Given the description of an element on the screen output the (x, y) to click on. 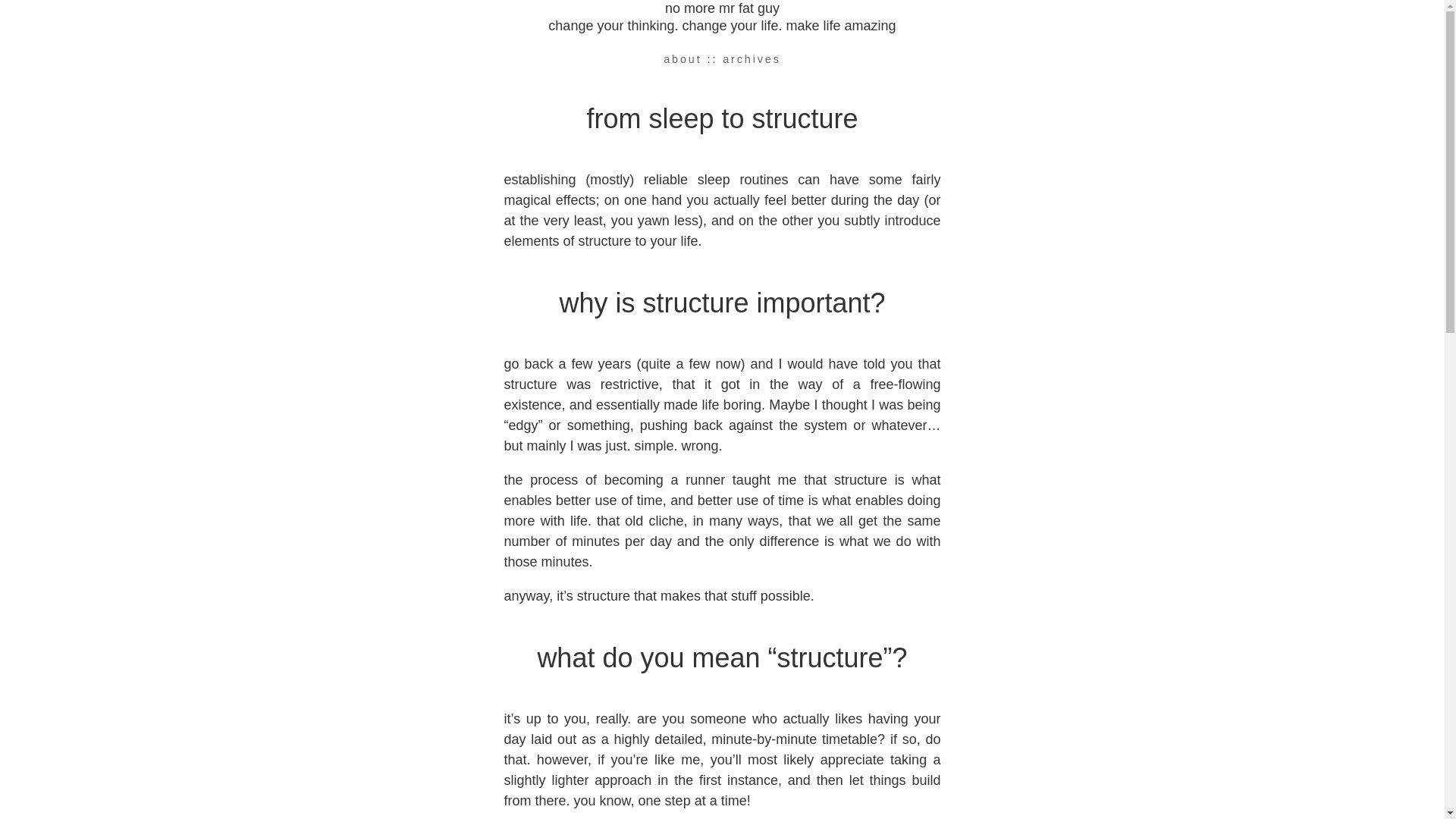
change your thinking. change your life. make life amazing Element type: text (721, 25)
from sleep to structure Element type: text (721, 118)
about Element type: text (682, 59)
archives Element type: text (751, 59)
no more mr fat guy Element type: text (722, 7)
